Given the description of an element on the screen output the (x, y) to click on. 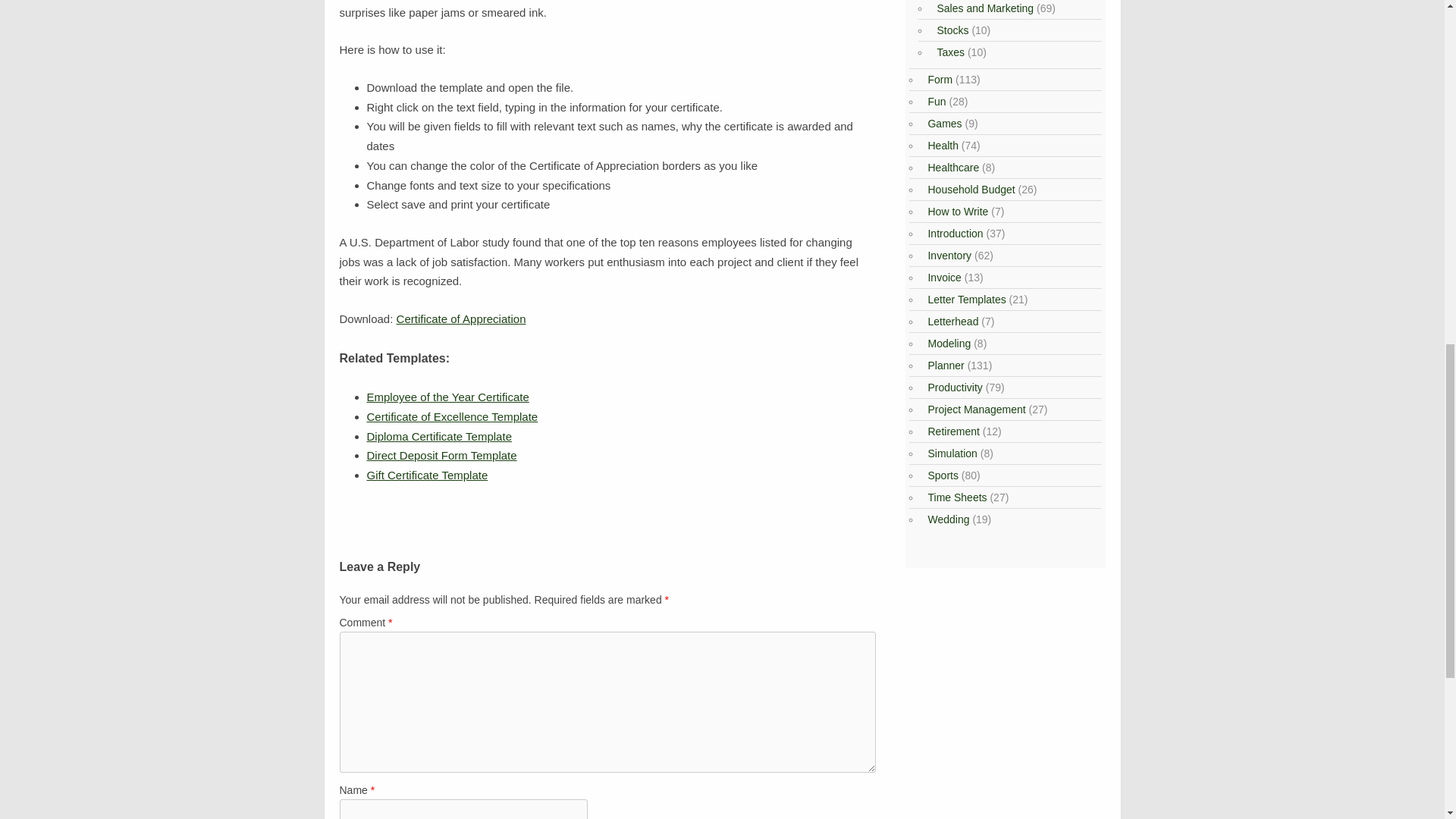
Certificate of Excellence Template (452, 416)
November 11, 2013 (441, 454)
Employee of the Year Certificate (447, 396)
July 16, 2014 (439, 436)
Diploma Certificate Template (439, 436)
June 24, 2013 (447, 396)
Certificate of Appreciation (460, 318)
Direct Deposit Form Template (441, 454)
June 24, 2013 (452, 416)
June 27, 2013 (426, 474)
Gift Certificate Template (426, 474)
